Given the description of an element on the screen output the (x, y) to click on. 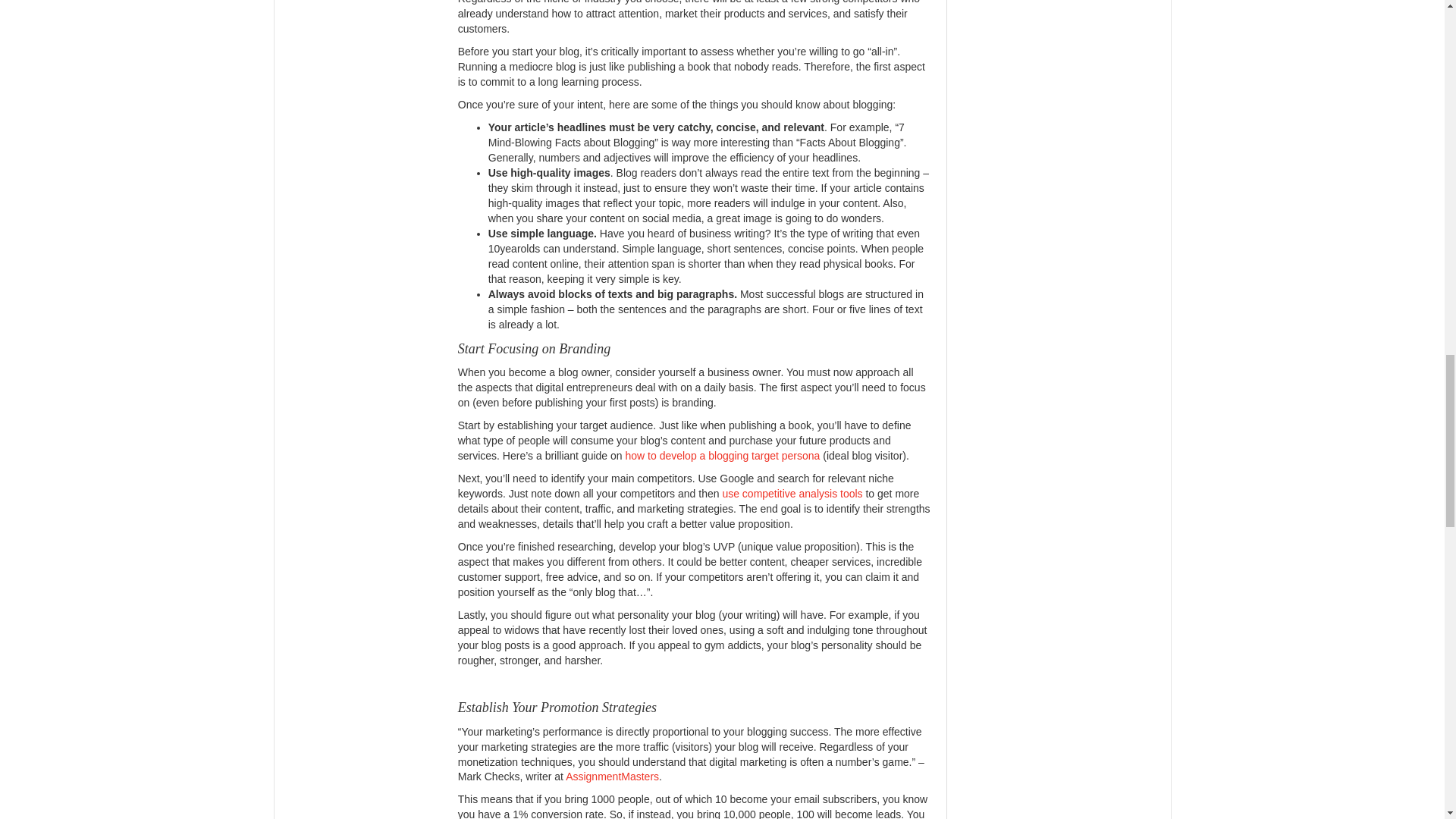
AssignmentMasters (612, 776)
use competitive analysis tools (791, 493)
how to develop a blogging target persona (721, 455)
